Given the description of an element on the screen output the (x, y) to click on. 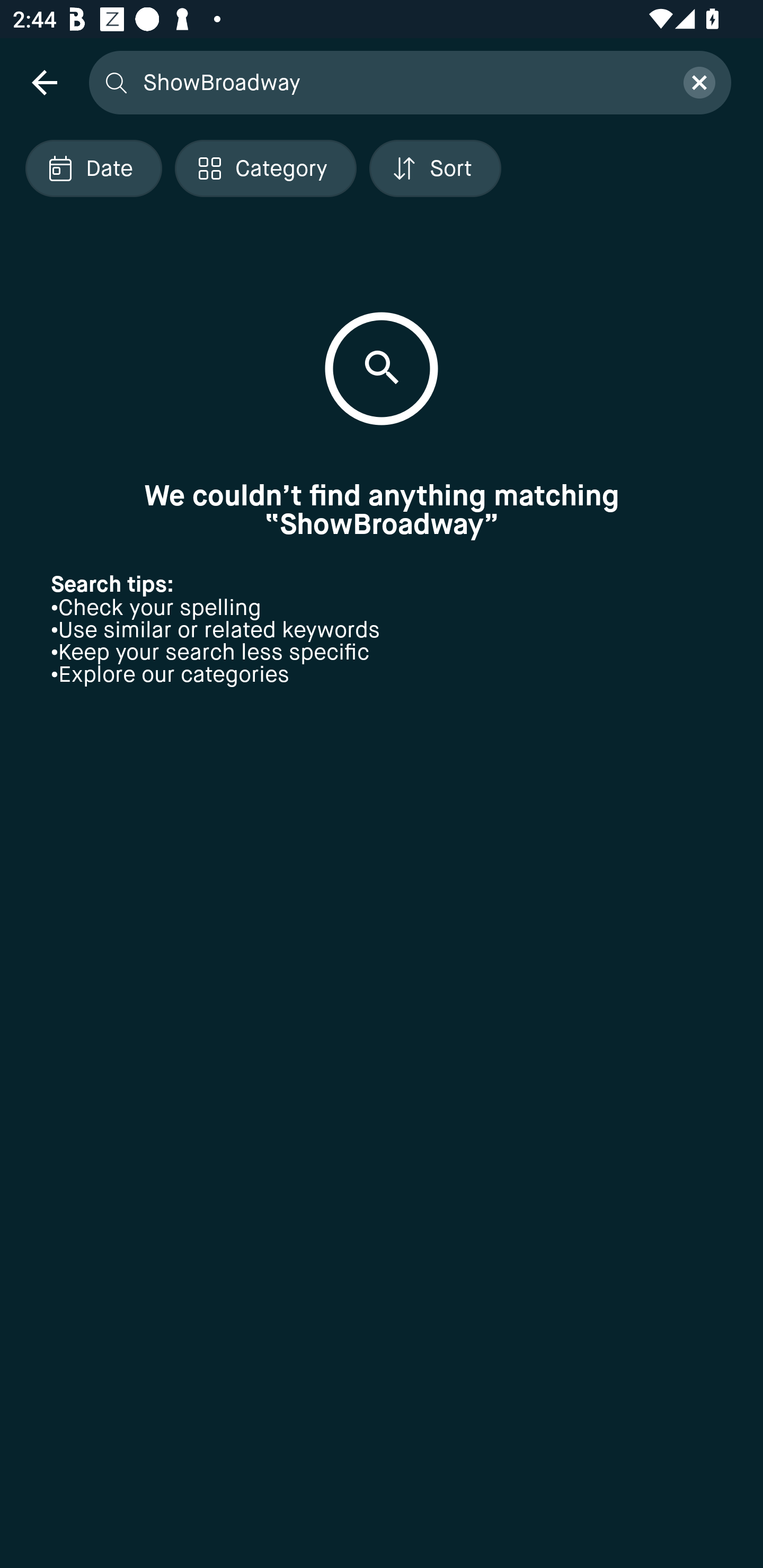
navigation icon (44, 81)
ShowBroadway (402, 81)
Localized description Date (93, 168)
Localized description Category (265, 168)
Localized description Sort (435, 168)
We couldn’t find anything matching “ShowBroadway” (381, 509)
